Given the description of an element on the screen output the (x, y) to click on. 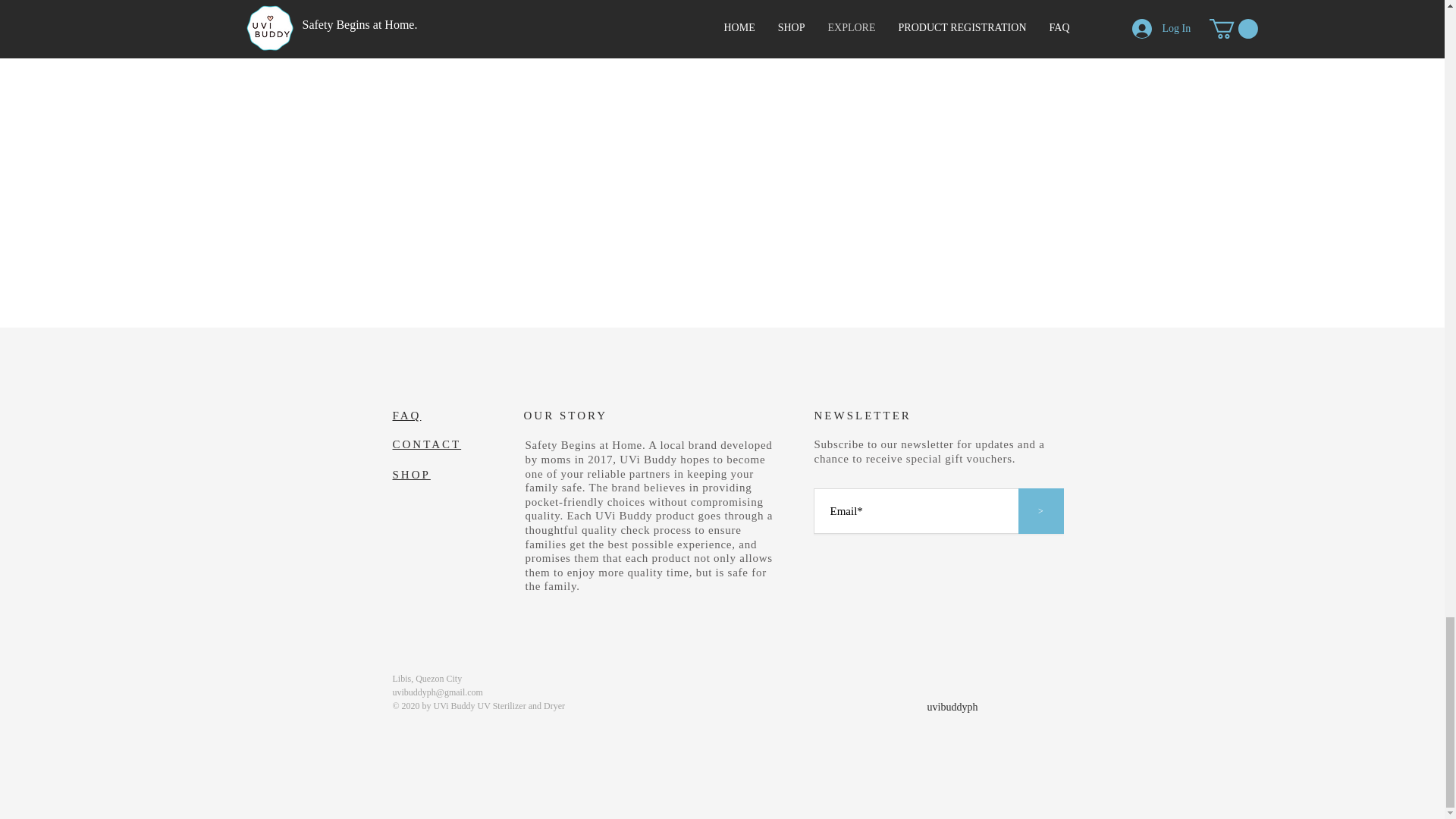
SHOP (411, 474)
CONTACT (427, 444)
FAQ (407, 415)
